Given the description of an element on the screen output the (x, y) to click on. 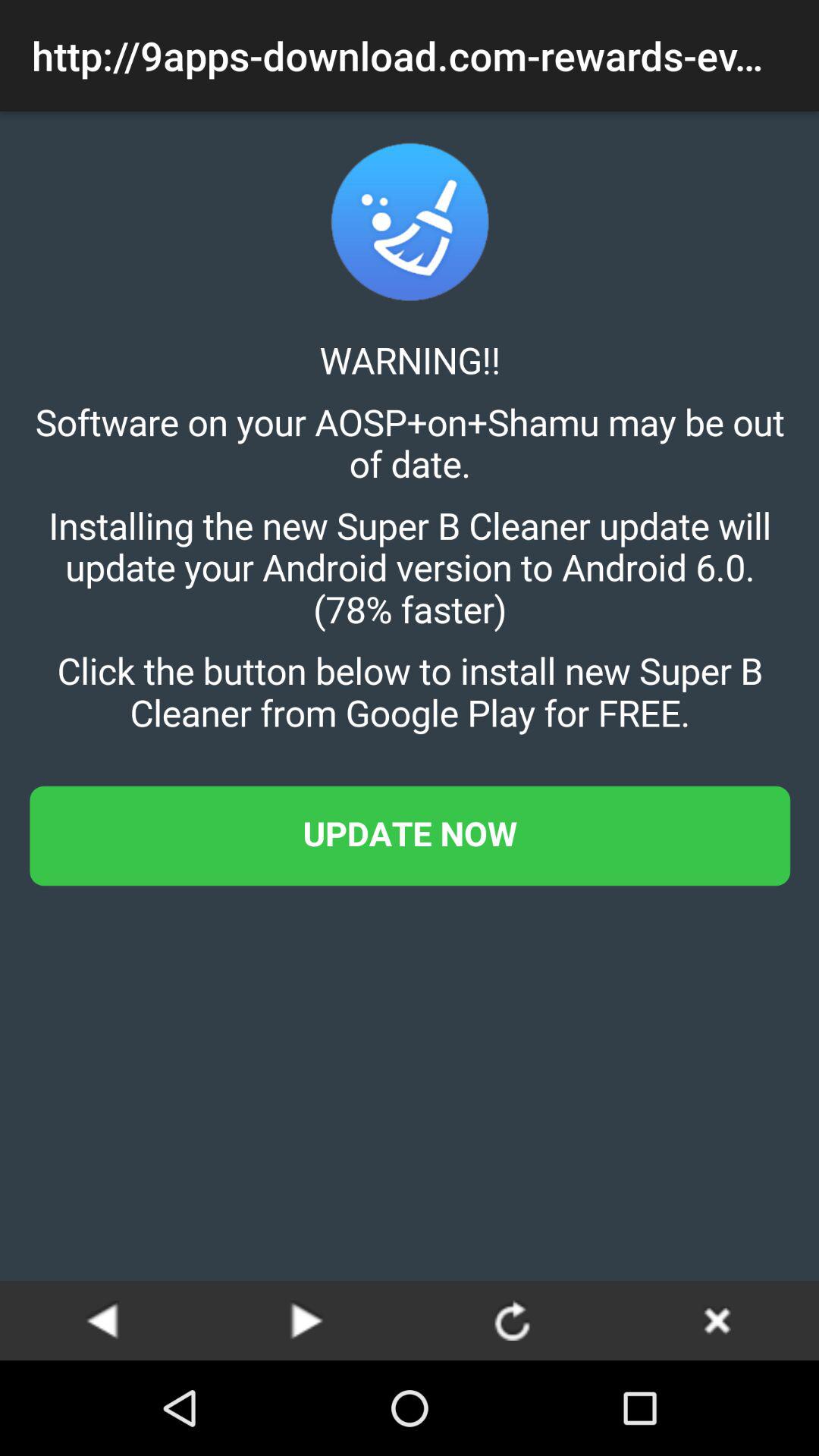
go to previous (102, 1320)
